Given the description of an element on the screen output the (x, y) to click on. 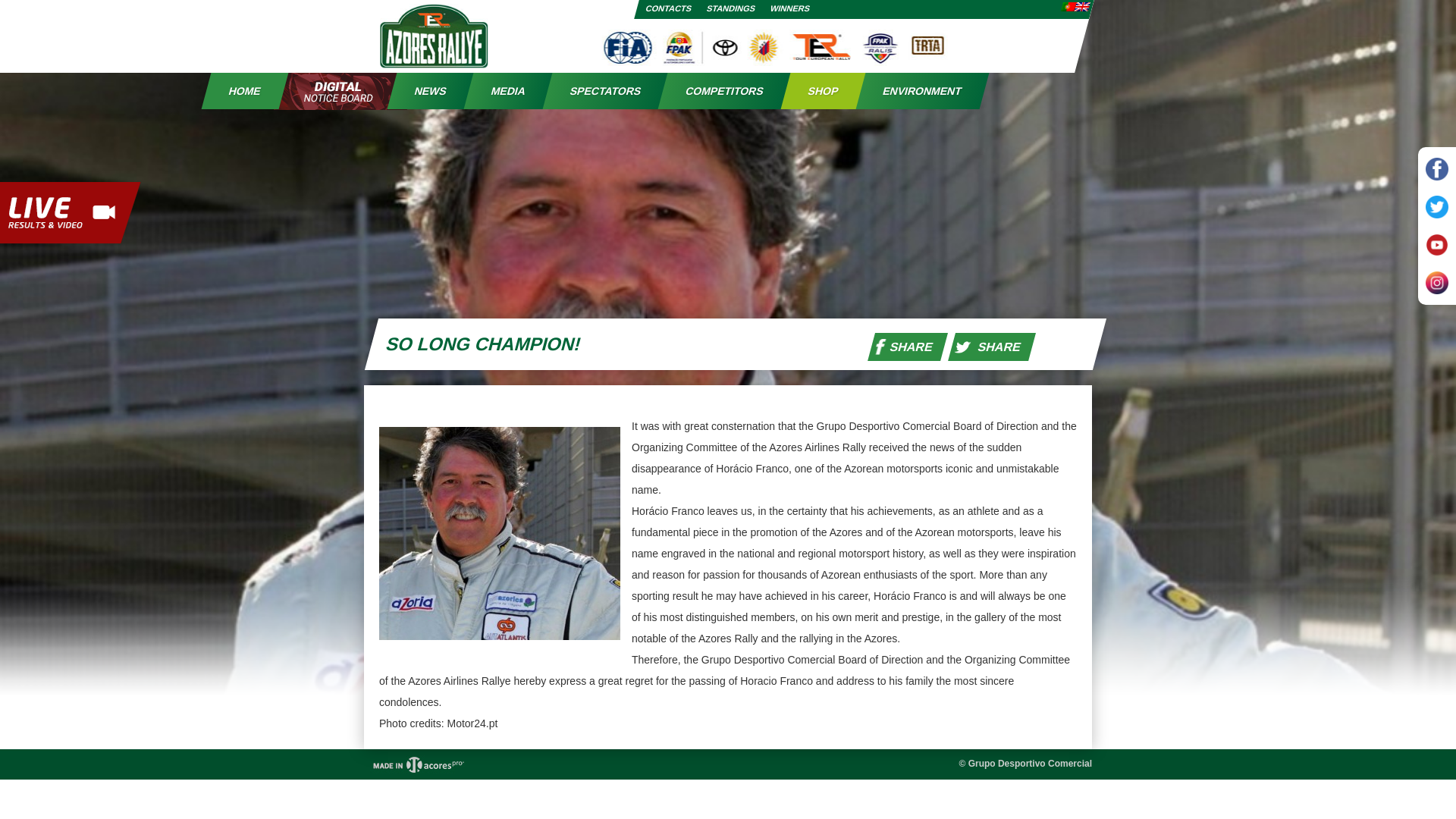
MEDIA (503, 90)
CONTACTS (667, 8)
SHARE (903, 346)
STANDINGS (730, 8)
COMPETITORS (719, 90)
WINNERS (789, 8)
HOME (239, 90)
SHOP (818, 90)
ENVIRONMENT (917, 90)
NEWS (425, 90)
